Given the description of an element on the screen output the (x, y) to click on. 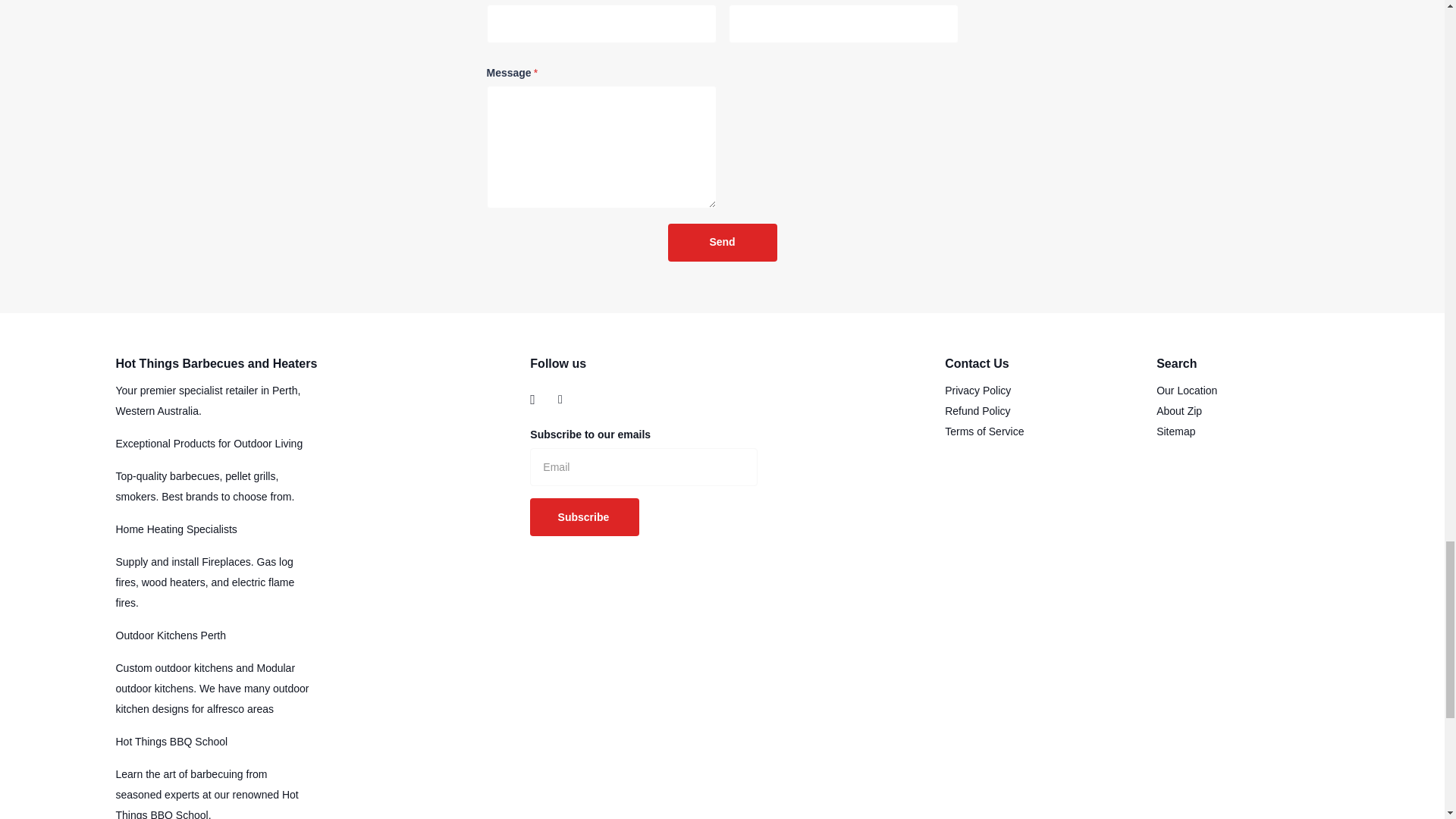
Terms of Service (983, 431)
Our Location (1186, 390)
About Zip (1179, 410)
Refund Policy (977, 410)
Privacy Policy (977, 390)
Sitemap (1175, 431)
